Given the description of an element on the screen output the (x, y) to click on. 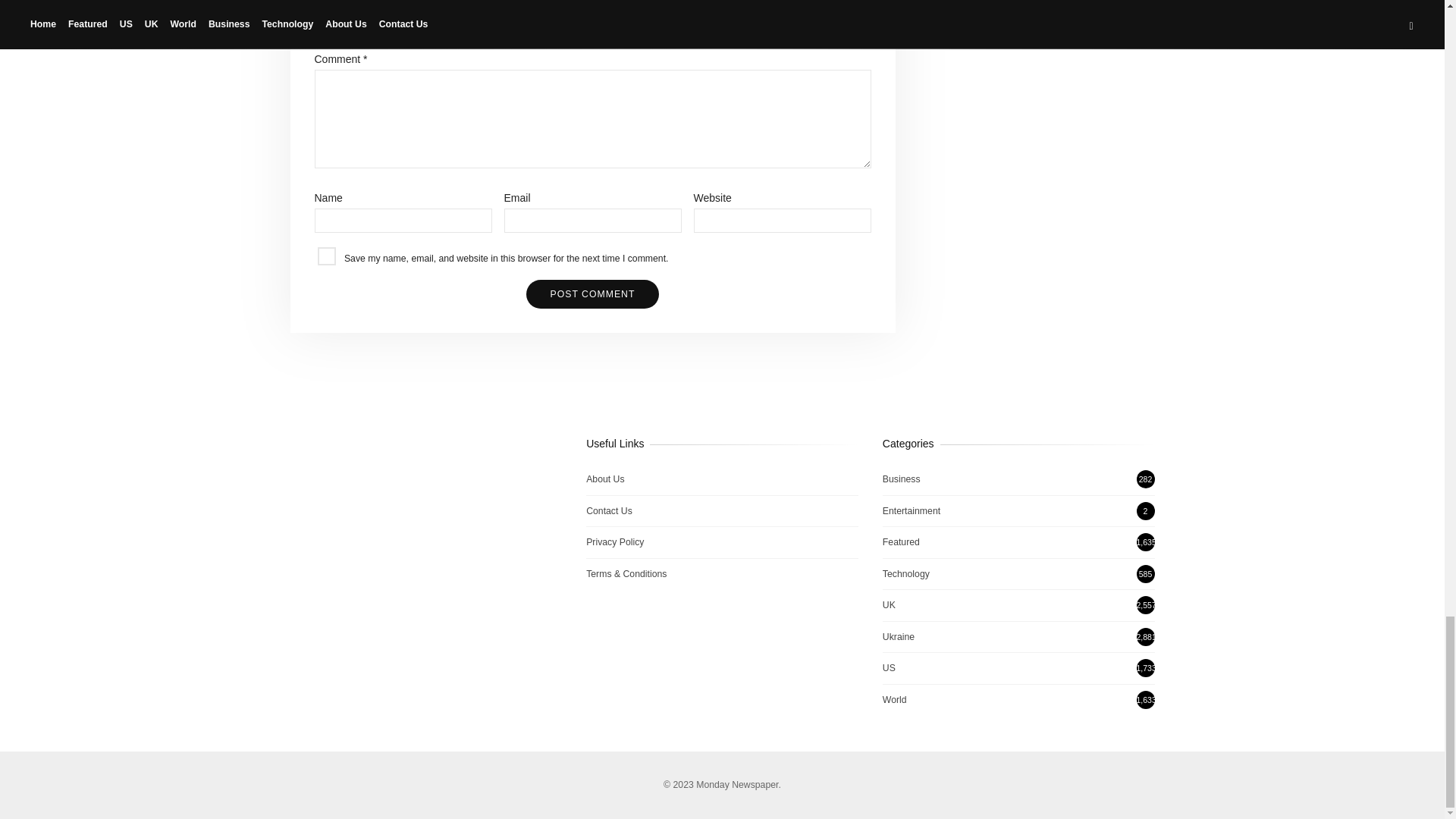
yes (325, 256)
Post Comment (592, 294)
Post Comment (592, 294)
